Given the description of an element on the screen output the (x, y) to click on. 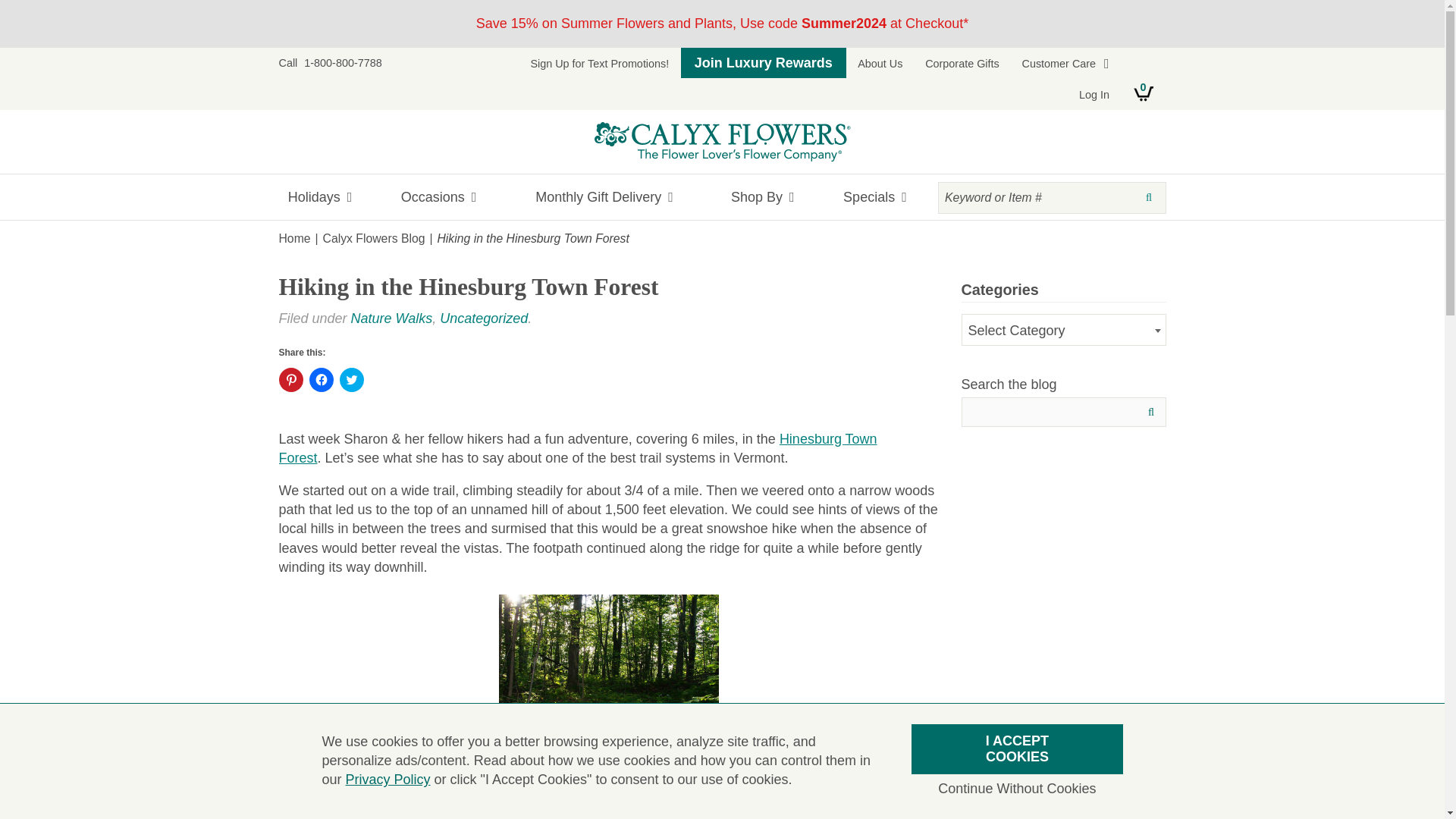
Holidays (327, 197)
Customer Care (1064, 63)
Join Luxury Rewards (763, 62)
Sign Up for Text Promotions! (599, 63)
Log In (1094, 94)
About Us (880, 63)
0 (1143, 93)
Occasions (438, 197)
Corporate Gifts (962, 63)
Log In (1094, 94)
